Given the description of an element on the screen output the (x, y) to click on. 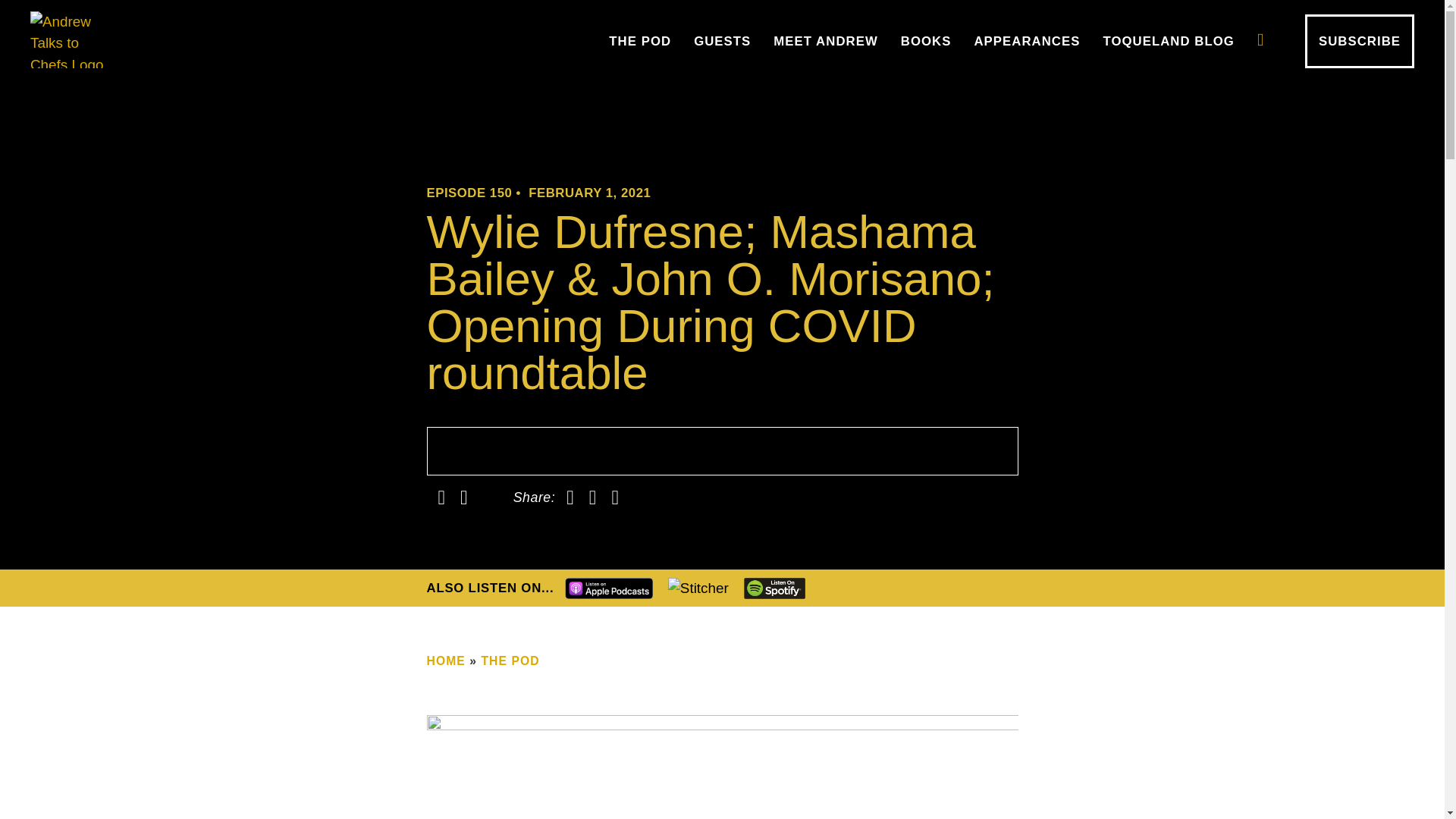
THE POD (509, 660)
BOOKS (925, 41)
HOME (445, 660)
MEET ANDREW (824, 41)
APPEARANCES (1026, 41)
SUBSCRIBE (1359, 41)
THE POD (639, 41)
TOQUELAND BLOG (1168, 41)
GUESTS (721, 41)
